Given the description of an element on the screen output the (x, y) to click on. 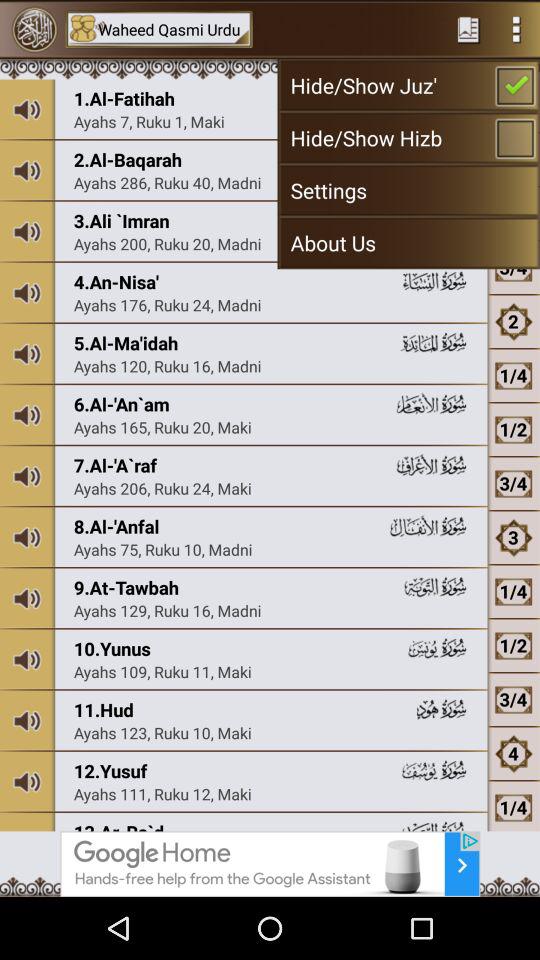
menu option (516, 29)
